Given the description of an element on the screen output the (x, y) to click on. 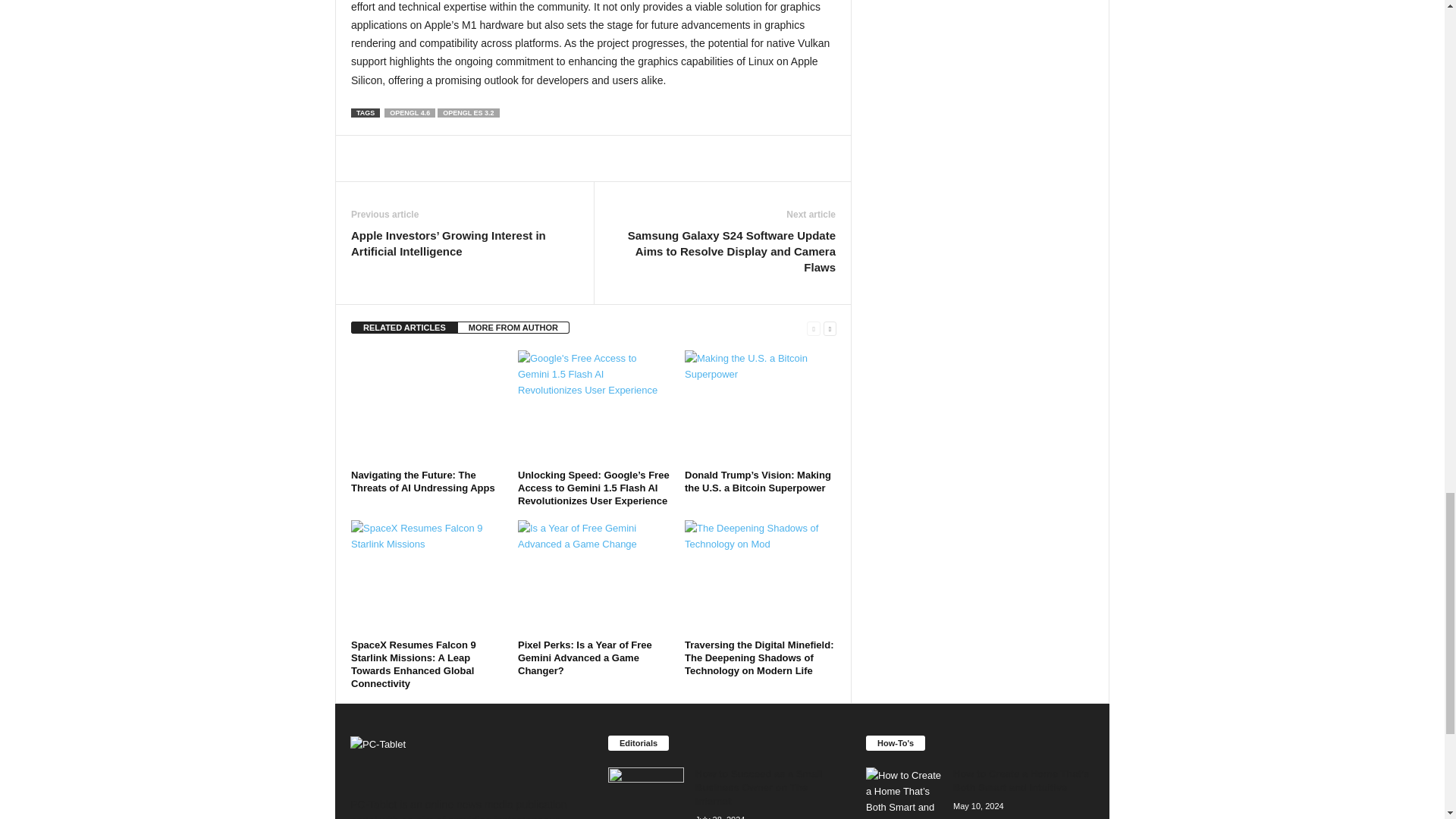
OPENGL ES 3.2 (468, 112)
RELATED ARTICLES (404, 327)
Navigating the Future: The Threats of AI Undressing Apps (426, 407)
MORE FROM AUTHOR (513, 327)
OPENGL 4.6 (409, 112)
